Given the description of an element on the screen output the (x, y) to click on. 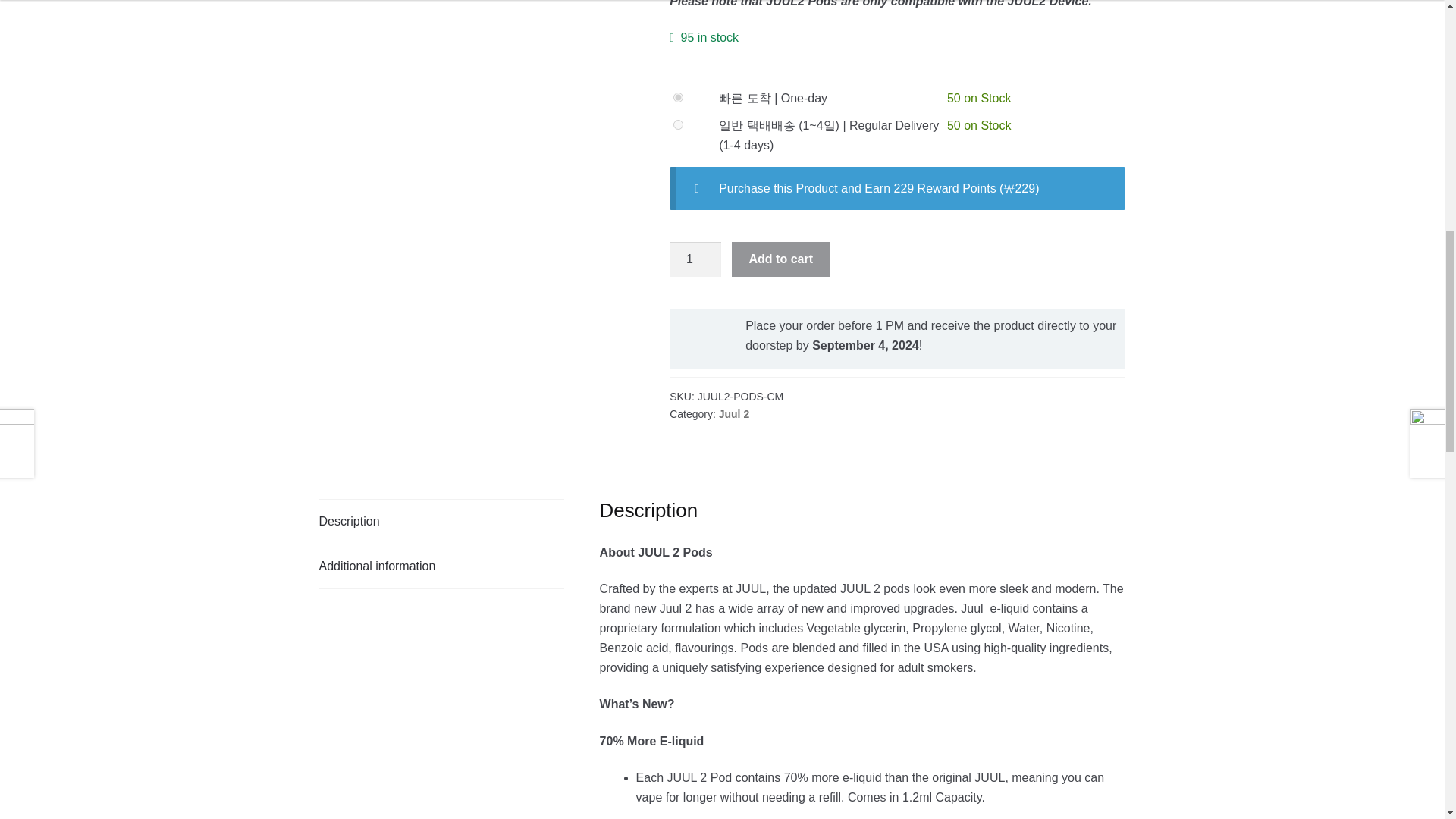
117 (677, 97)
1 (694, 258)
118 (677, 124)
Qty (694, 258)
